Given the description of an element on the screen output the (x, y) to click on. 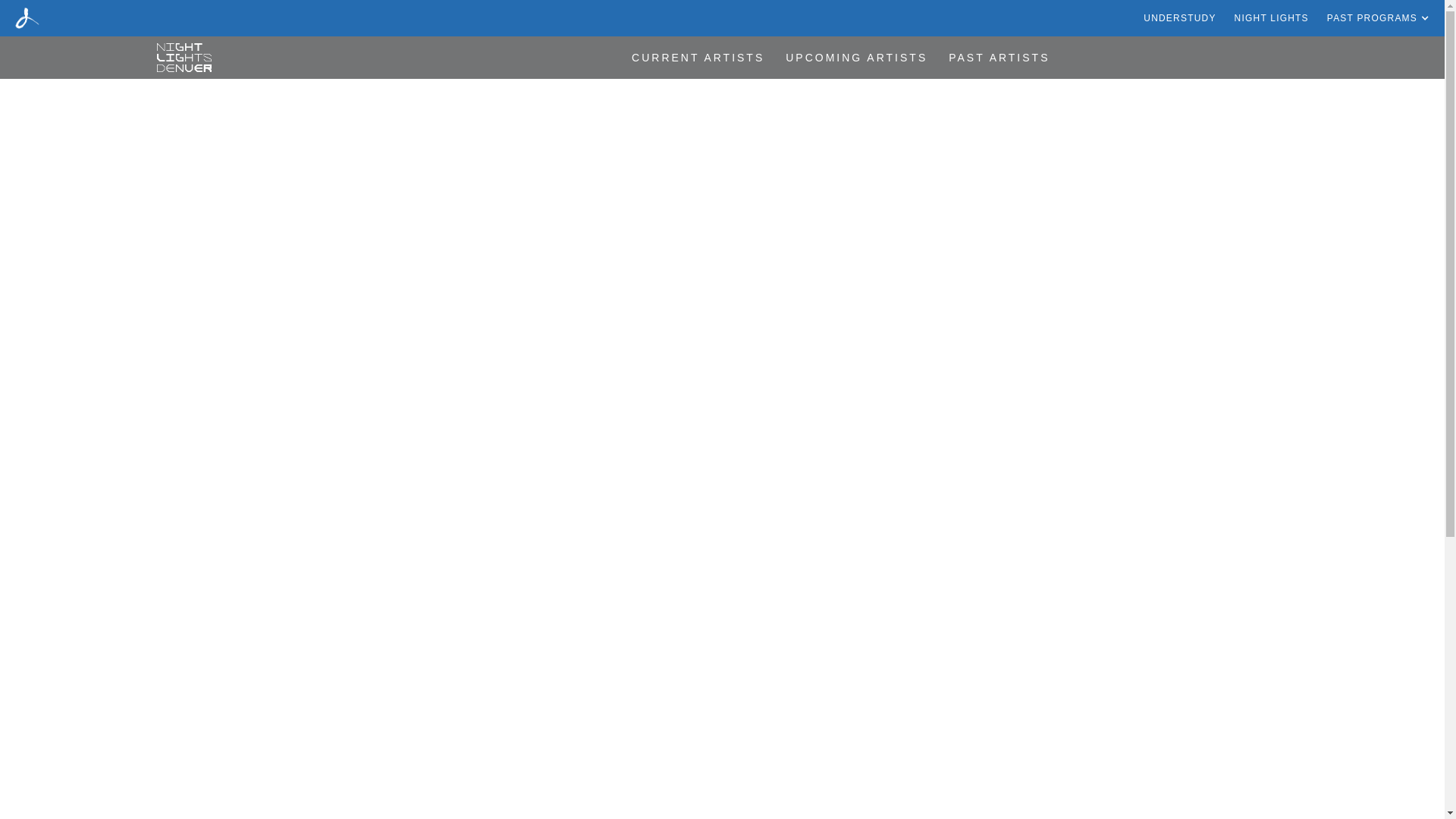
UNDERSTUDY (1178, 17)
NIGHT LIGHTS (1271, 17)
PAST ARTISTS (998, 57)
UPCOMING ARTISTS (855, 57)
CURRENT ARTISTS (697, 57)
